Given the description of an element on the screen output the (x, y) to click on. 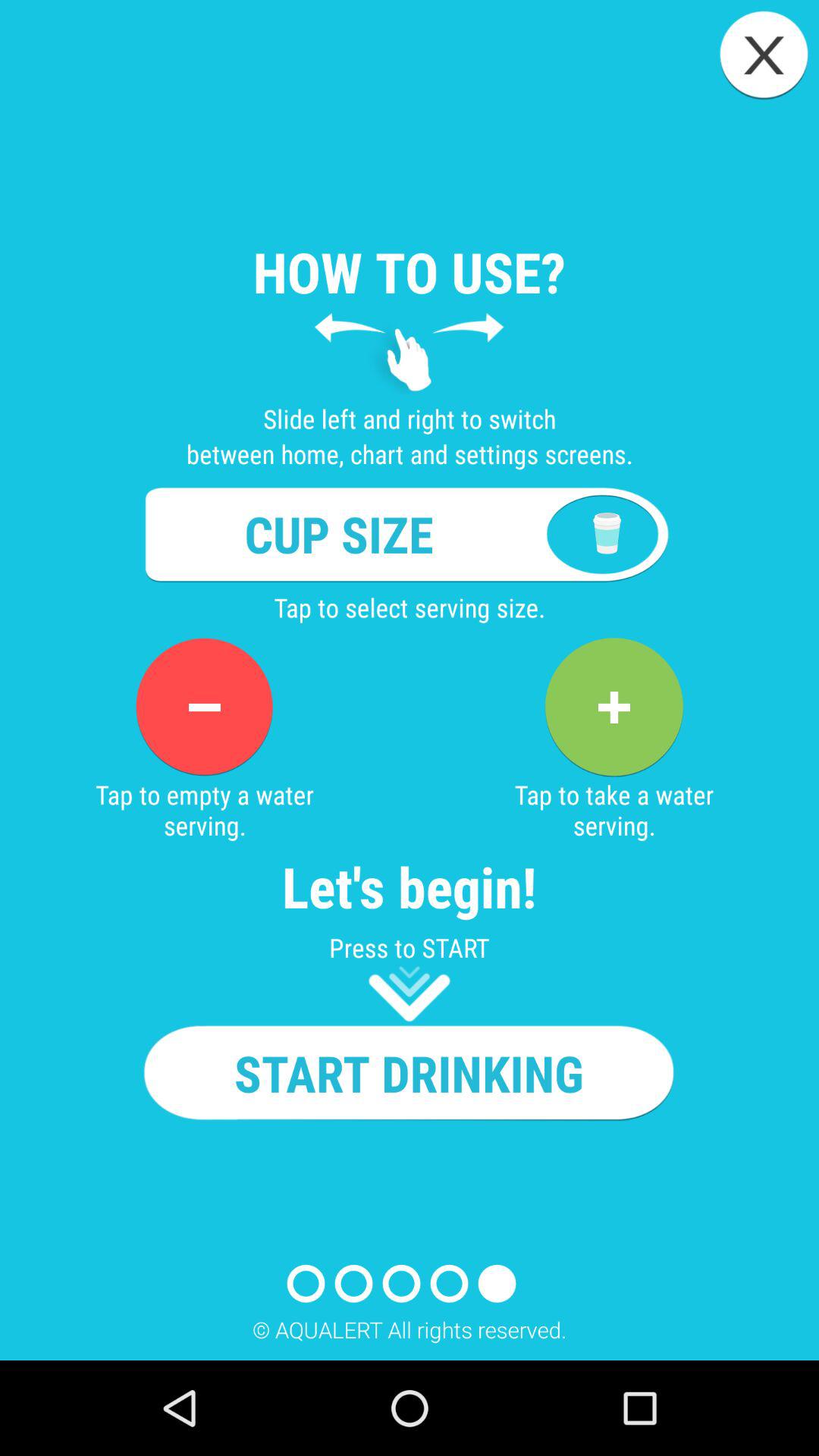
shows plus icon (613, 706)
